Given the description of an element on the screen output the (x, y) to click on. 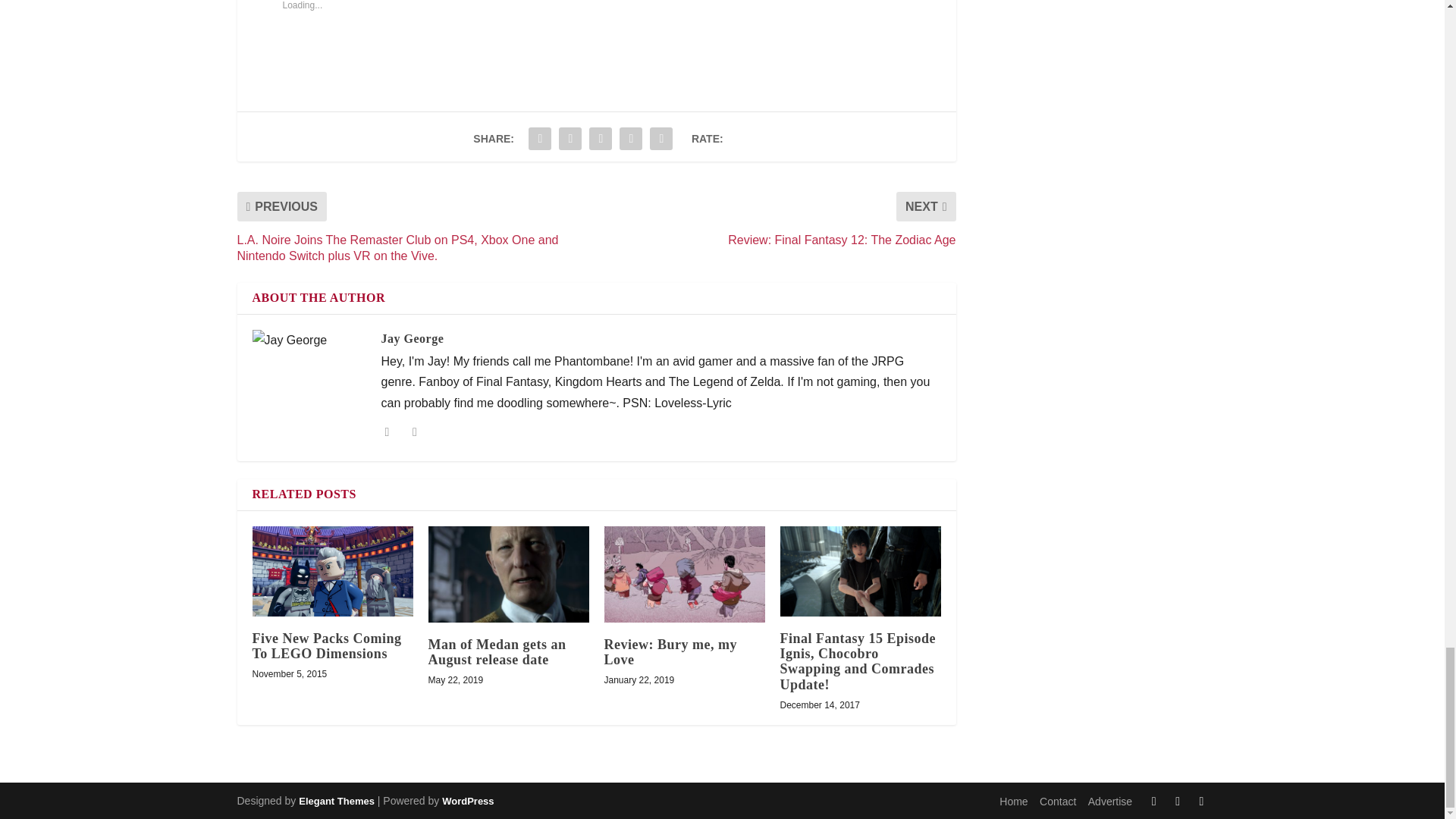
Jay George (412, 338)
Share "Review: Ys VIII: Lacrimosa of Dana" via Twitter (569, 138)
Share "Review: Ys VIII: Lacrimosa of Dana" via Print (661, 138)
View all posts by Jay George (412, 338)
Share "Review: Ys VIII: Lacrimosa of Dana" via Facebook (539, 138)
Share "Review: Ys VIII: Lacrimosa of Dana" via Tumblr (600, 138)
Share "Review: Ys VIII: Lacrimosa of Dana" via Email (630, 138)
Five New Packs Coming To LEGO Dimensions (331, 571)
